Given the description of an element on the screen output the (x, y) to click on. 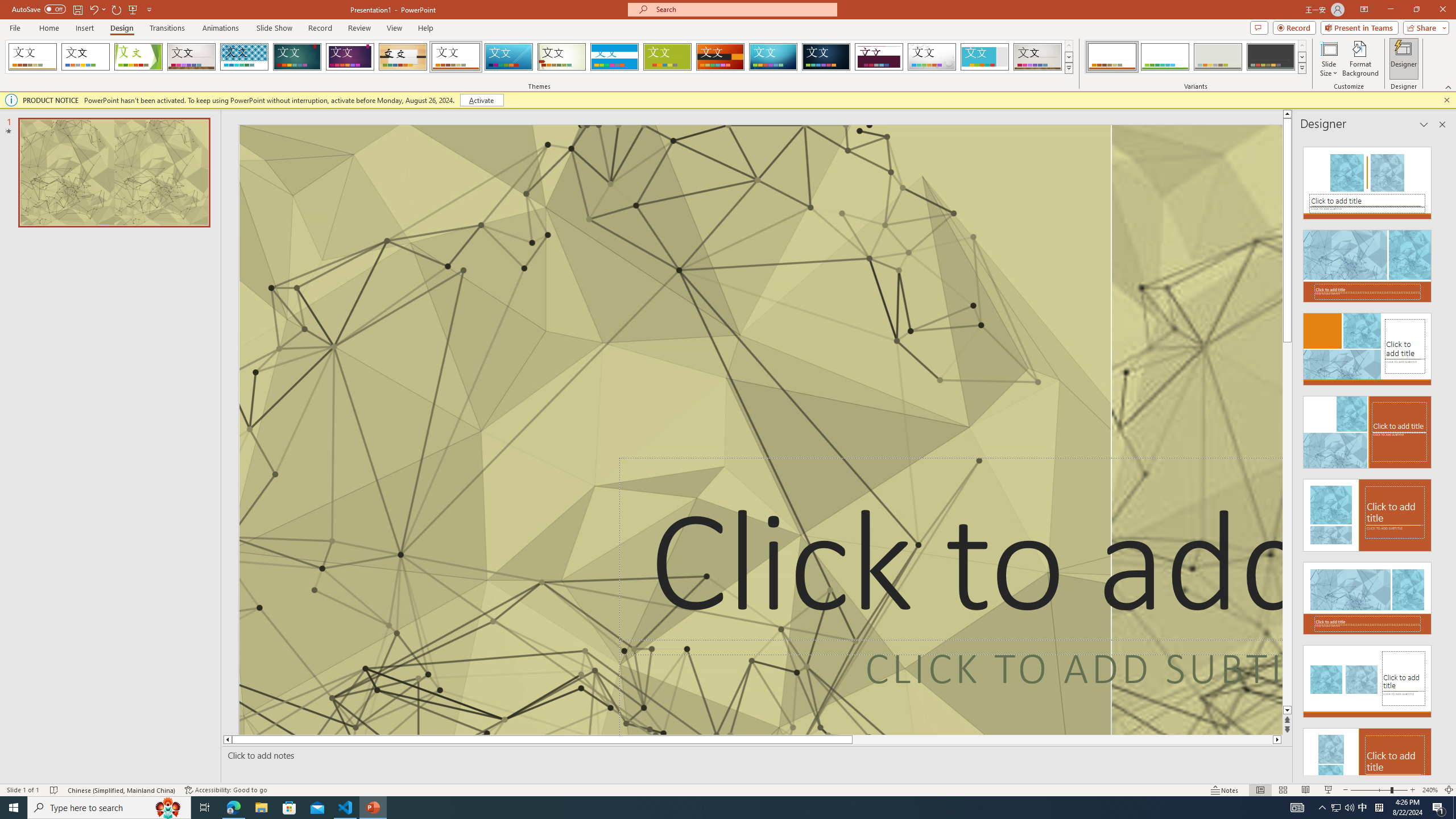
Basis (667, 56)
Variants (1301, 67)
Circuit (772, 56)
Design Idea (1366, 760)
Office Theme (85, 56)
Integral (244, 56)
Retrospect Variant 3 (1217, 56)
